Given the description of an element on the screen output the (x, y) to click on. 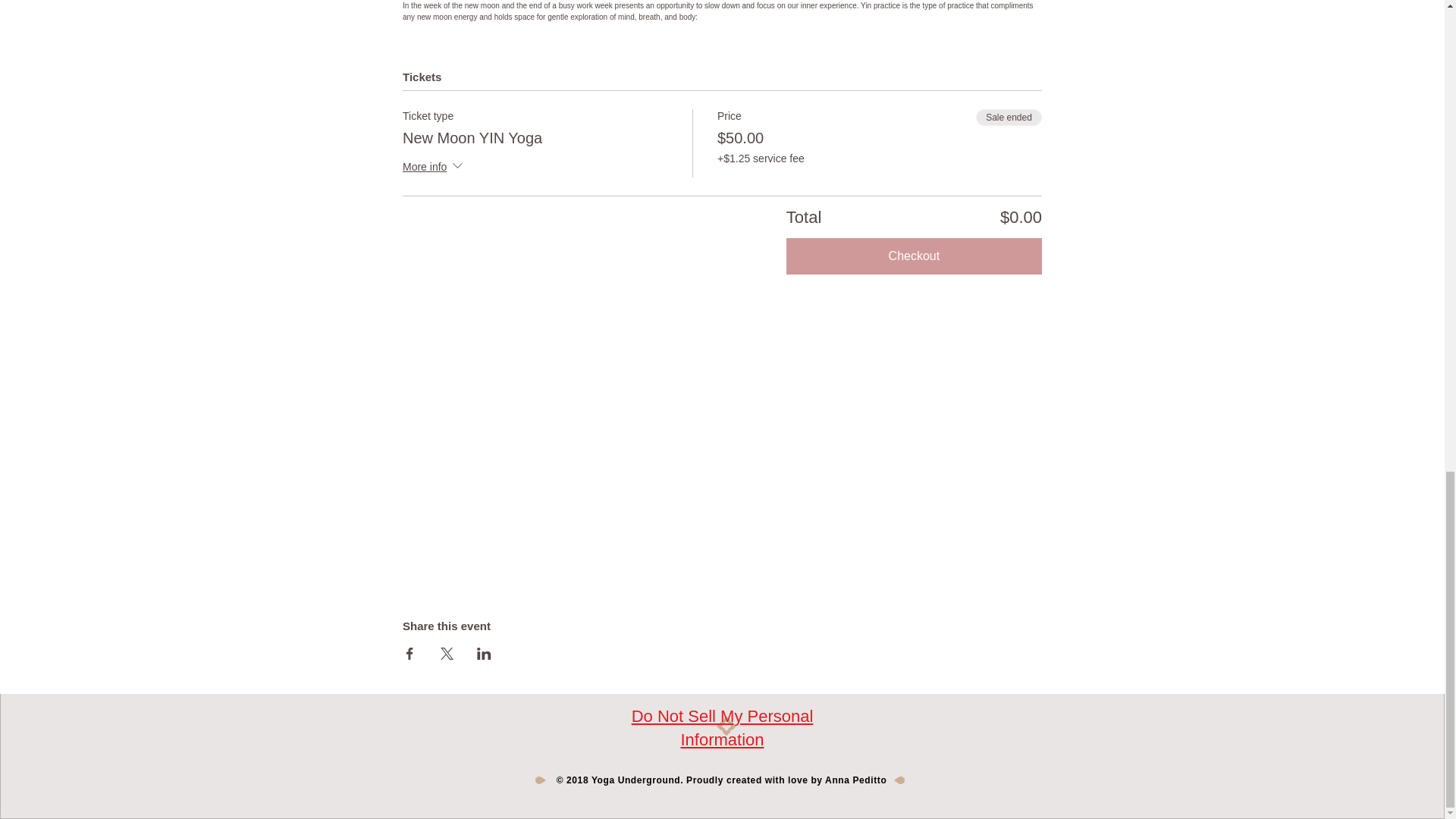
More info (434, 168)
Do Not Sell My Personal Information (722, 728)
Checkout (914, 256)
